Given the description of an element on the screen output the (x, y) to click on. 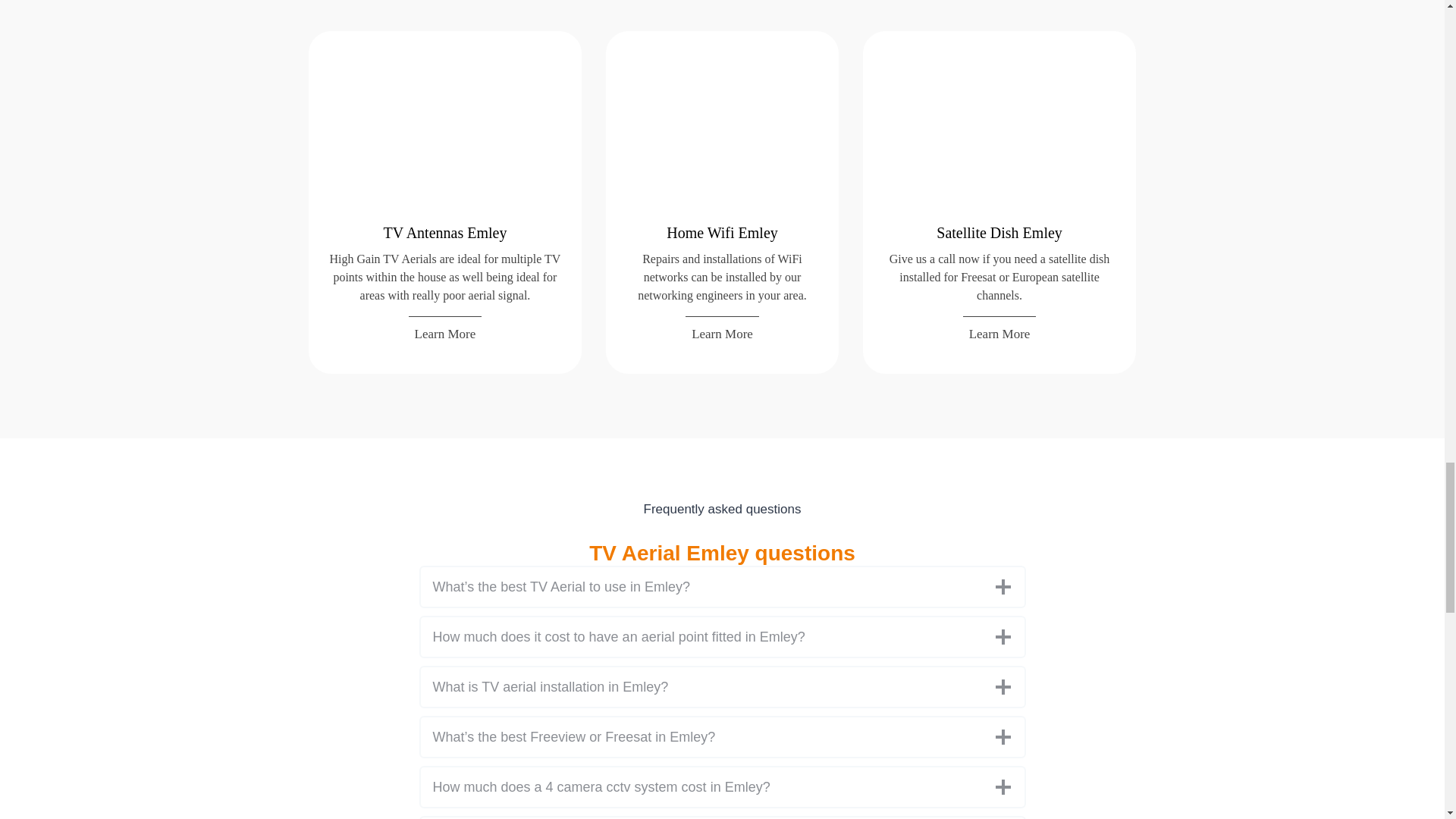
Learn More (721, 331)
Learn More (999, 331)
Learn More (445, 331)
Aerial Installation Emley 13 (445, 132)
What is TV aerial installation in Emley? (722, 686)
Aerial Installation Emley 17 (999, 132)
Aerial Installation Emley 15 (721, 132)
How much does a 4 camera cctv system cost in Emley? (722, 786)
